Given the description of an element on the screen output the (x, y) to click on. 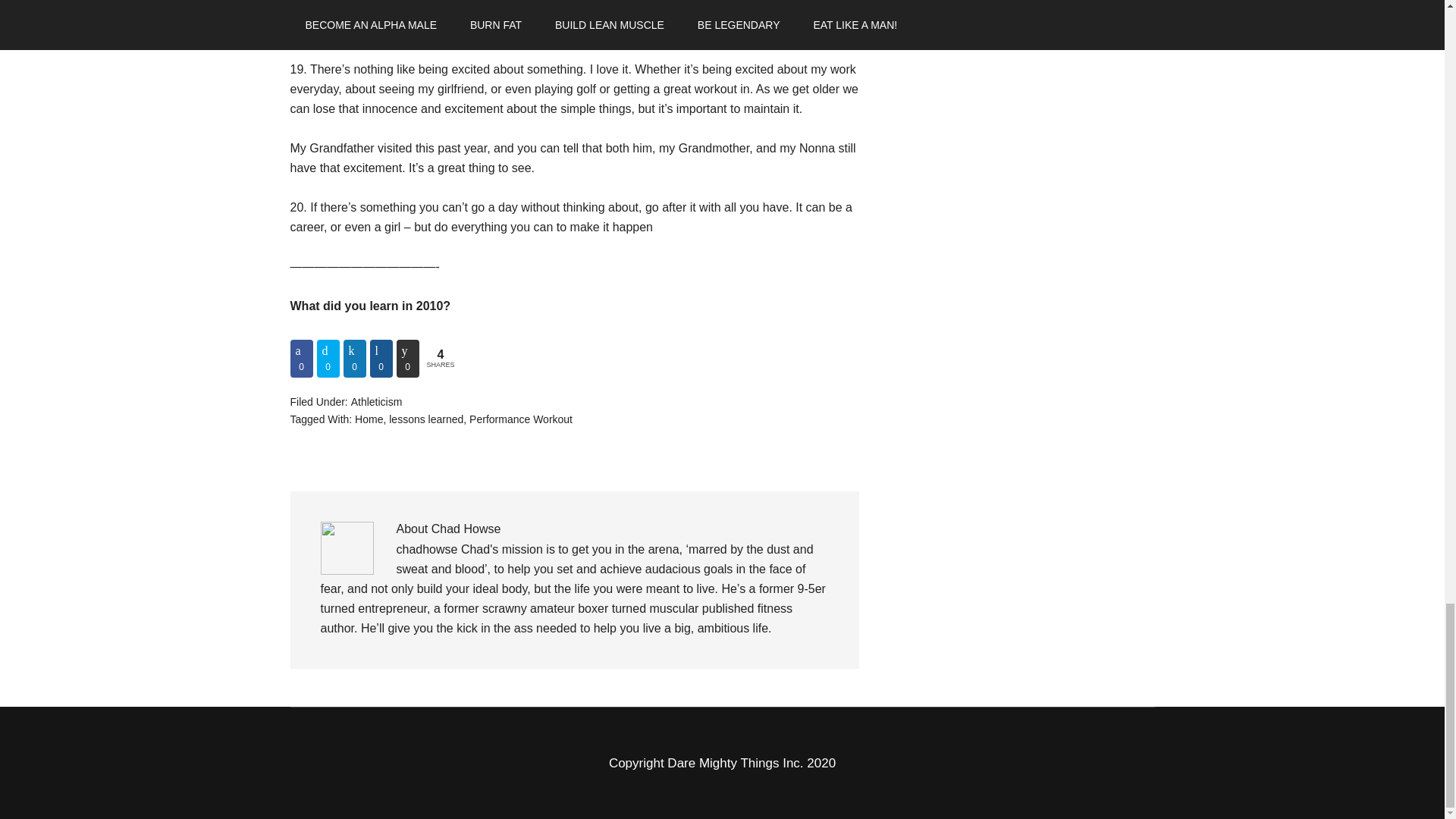
Home (368, 419)
Performance Workout (520, 419)
lessons learned (425, 419)
Athleticism (376, 401)
chadhowse (426, 549)
